Given the description of an element on the screen output the (x, y) to click on. 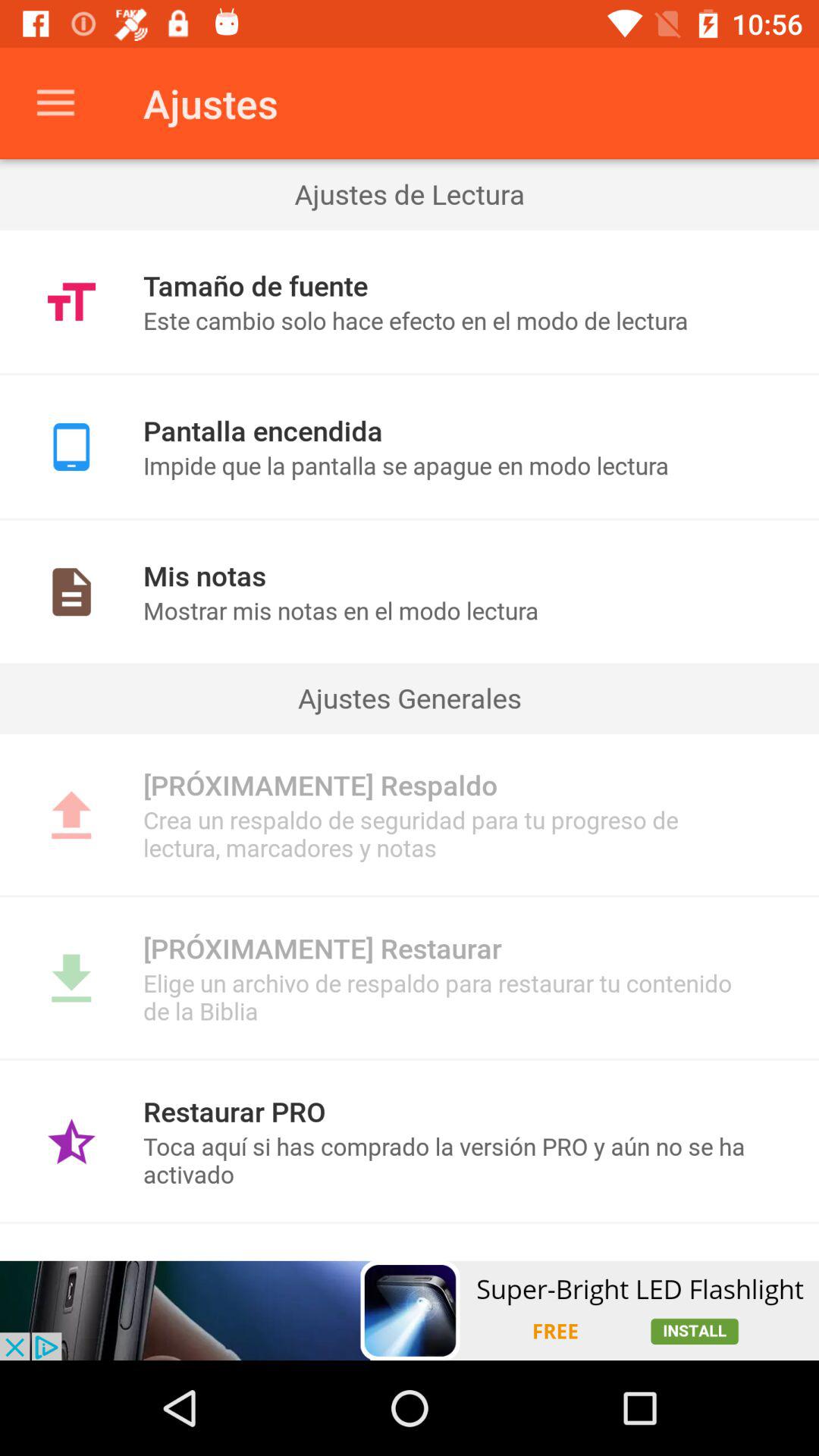
click elige un archivo item (449, 996)
